Given the description of an element on the screen output the (x, y) to click on. 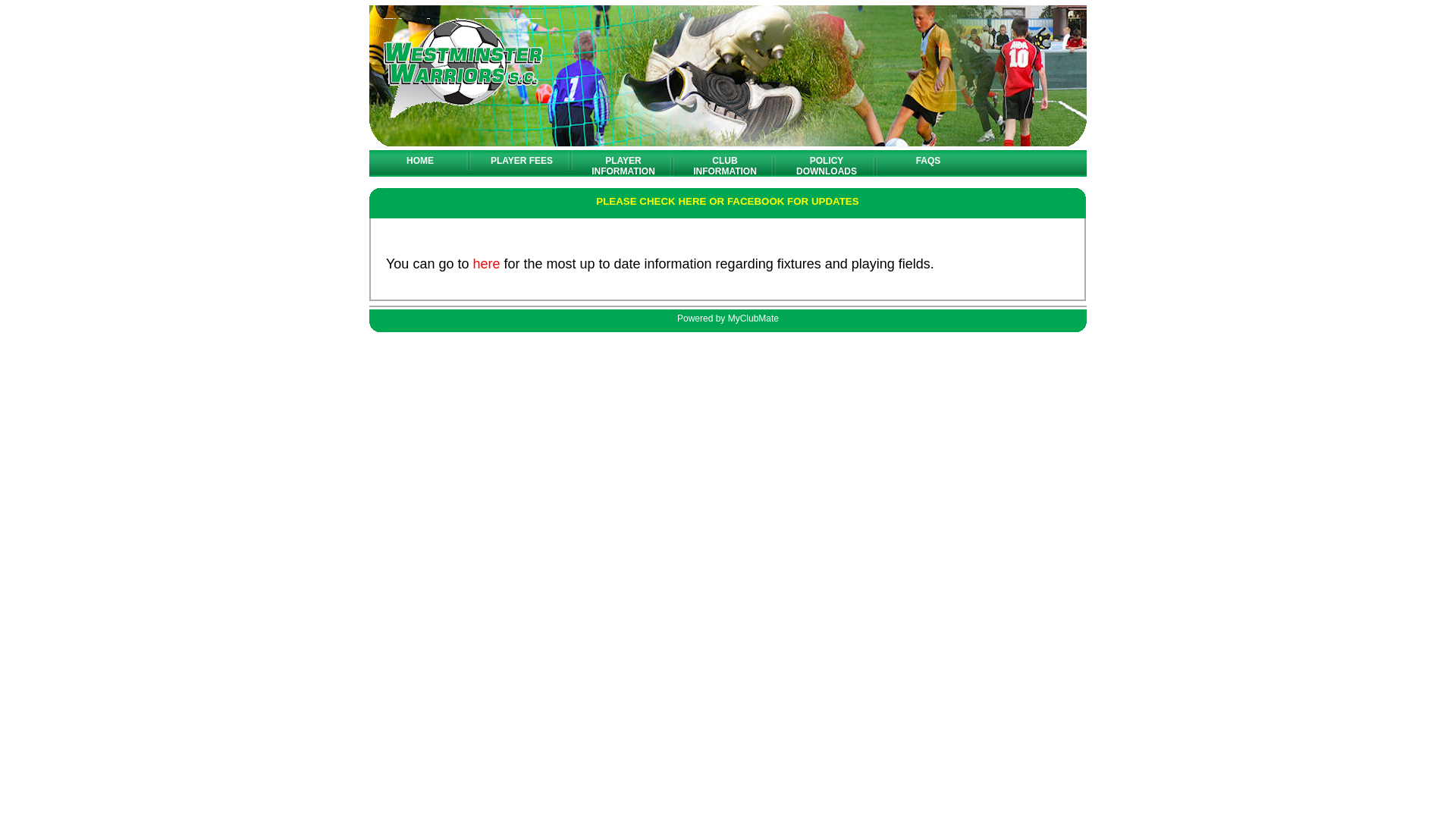
PLAYER INFORMATION Element type: text (623, 165)
PLAYER FEES Element type: text (521, 160)
MyClubMate Element type: text (753, 318)
POLICY DOWNLOADS Element type: text (826, 165)
here Element type: text (485, 263)
HOME Element type: text (419, 160)
FAQS Element type: text (928, 160)
CLUB INFORMATION Element type: text (724, 165)
